Given the description of an element on the screen output the (x, y) to click on. 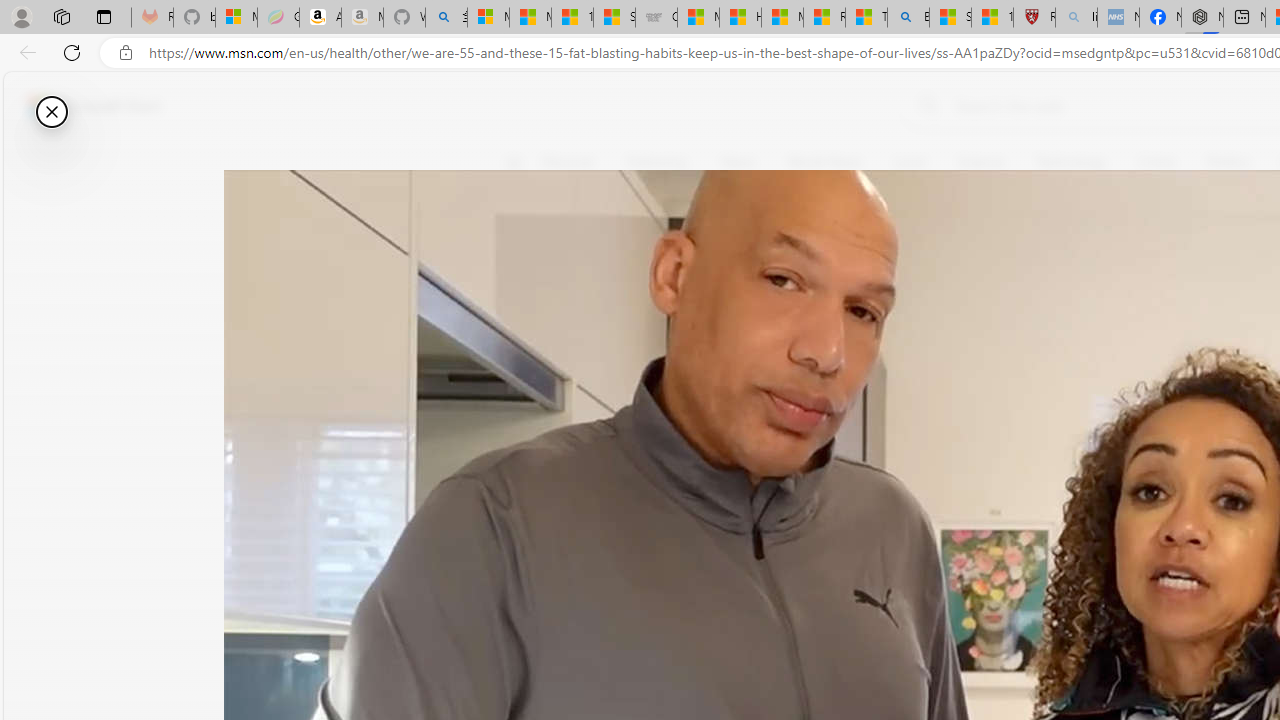
Technology (1071, 162)
Open navigation menu (513, 162)
Combat Siege (656, 17)
Skip to footer (82, 105)
Robert H. Shmerling, MD - Harvard Health (1033, 17)
World News (824, 162)
Class: at-item (525, 468)
